Given the description of an element on the screen output the (x, y) to click on. 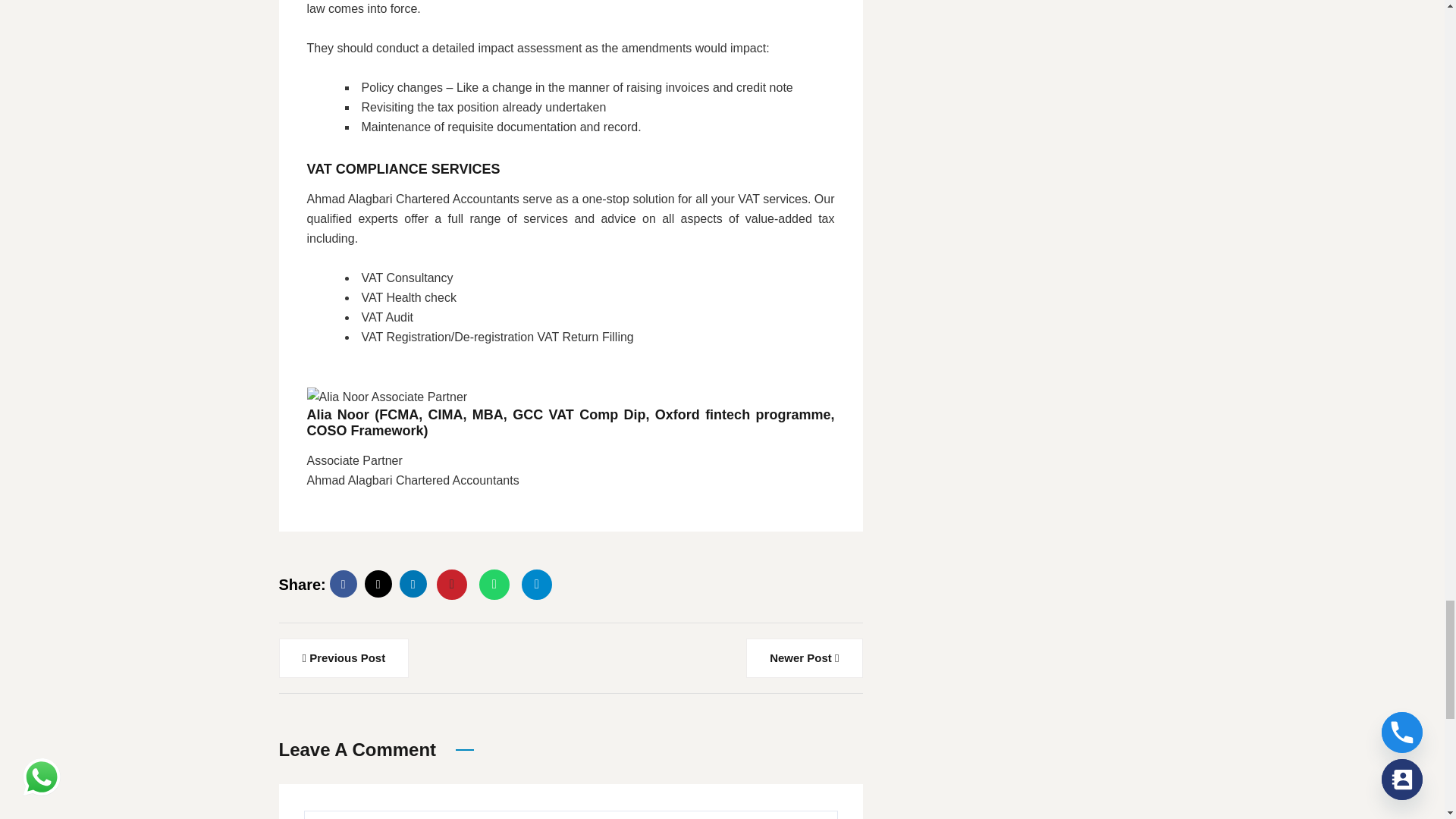
Alia Noor Associate Partner (386, 397)
